Given the description of an element on the screen output the (x, y) to click on. 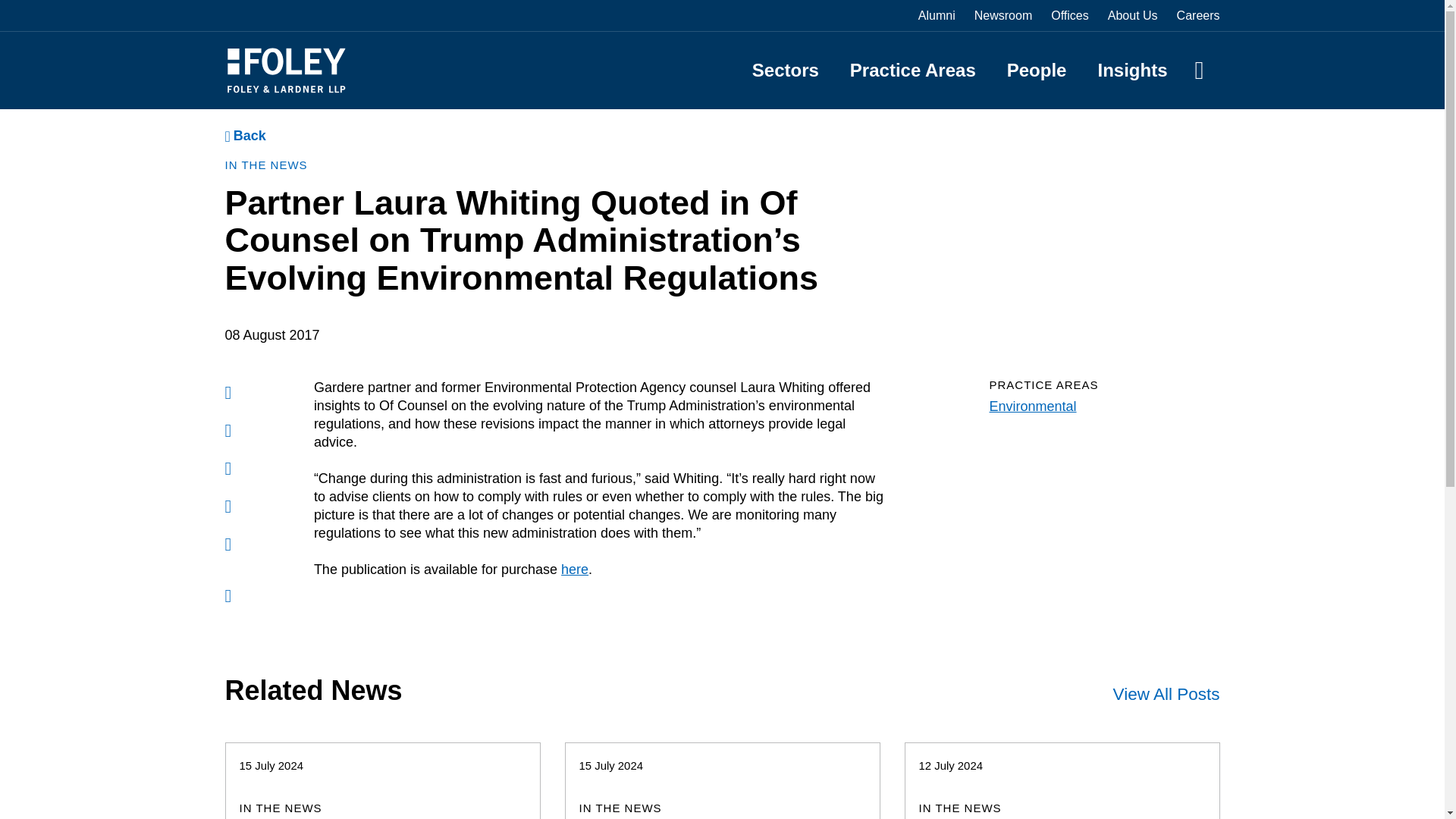
View All Posts (1166, 694)
Insights (1132, 70)
here (574, 569)
Share on Twitter (227, 430)
Alumni (936, 15)
People (1037, 70)
Sectors (785, 70)
Back (244, 136)
Offices (1070, 15)
Back to top (227, 597)
Share on LinkedIn (227, 393)
Environmental (1031, 406)
Share (227, 544)
Print (227, 468)
About Us (1132, 15)
